Given the description of an element on the screen output the (x, y) to click on. 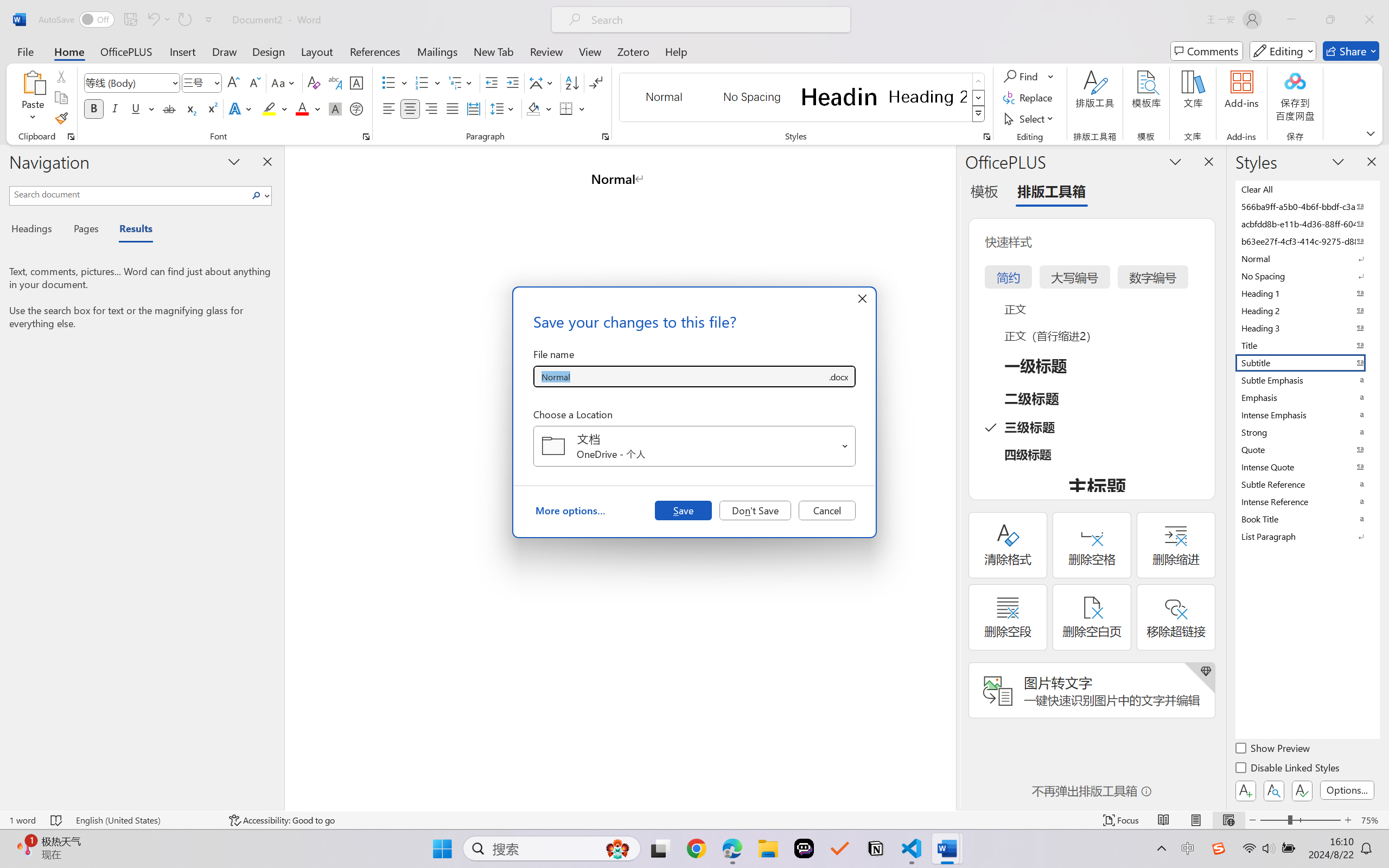
Web Layout (1228, 819)
Sort... (571, 82)
Find (1022, 75)
AutoSave (76, 19)
AutomationID: QuickStylesGallery (802, 97)
No Spacing (1306, 275)
Decrease Indent (491, 82)
Center (409, 108)
Bullets (395, 82)
Intense Quote (1306, 466)
File Tab (24, 51)
Select (1030, 118)
